Given the description of an element on the screen output the (x, y) to click on. 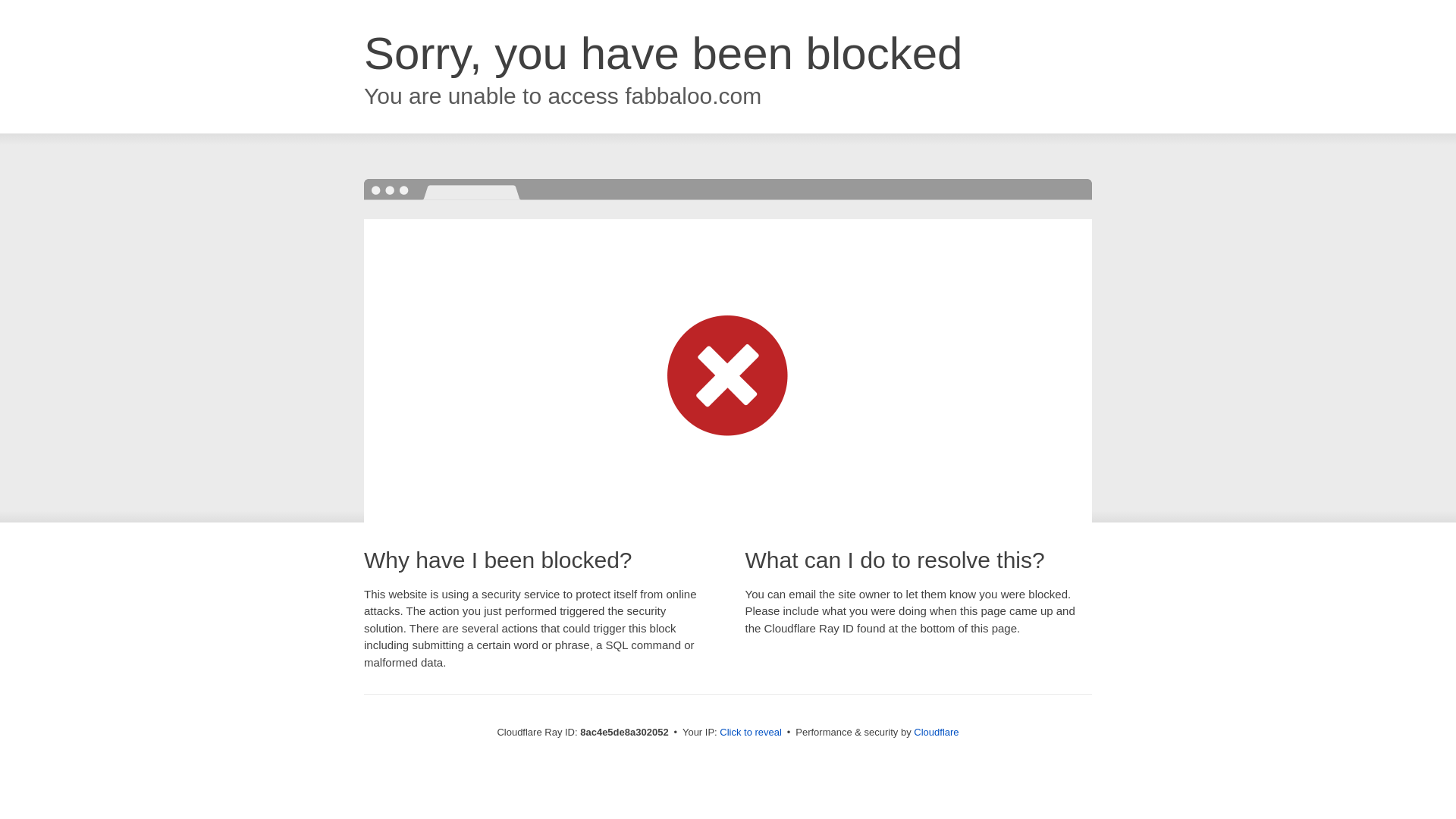
Click to reveal (750, 732)
Cloudflare (936, 731)
